Given the description of an element on the screen output the (x, y) to click on. 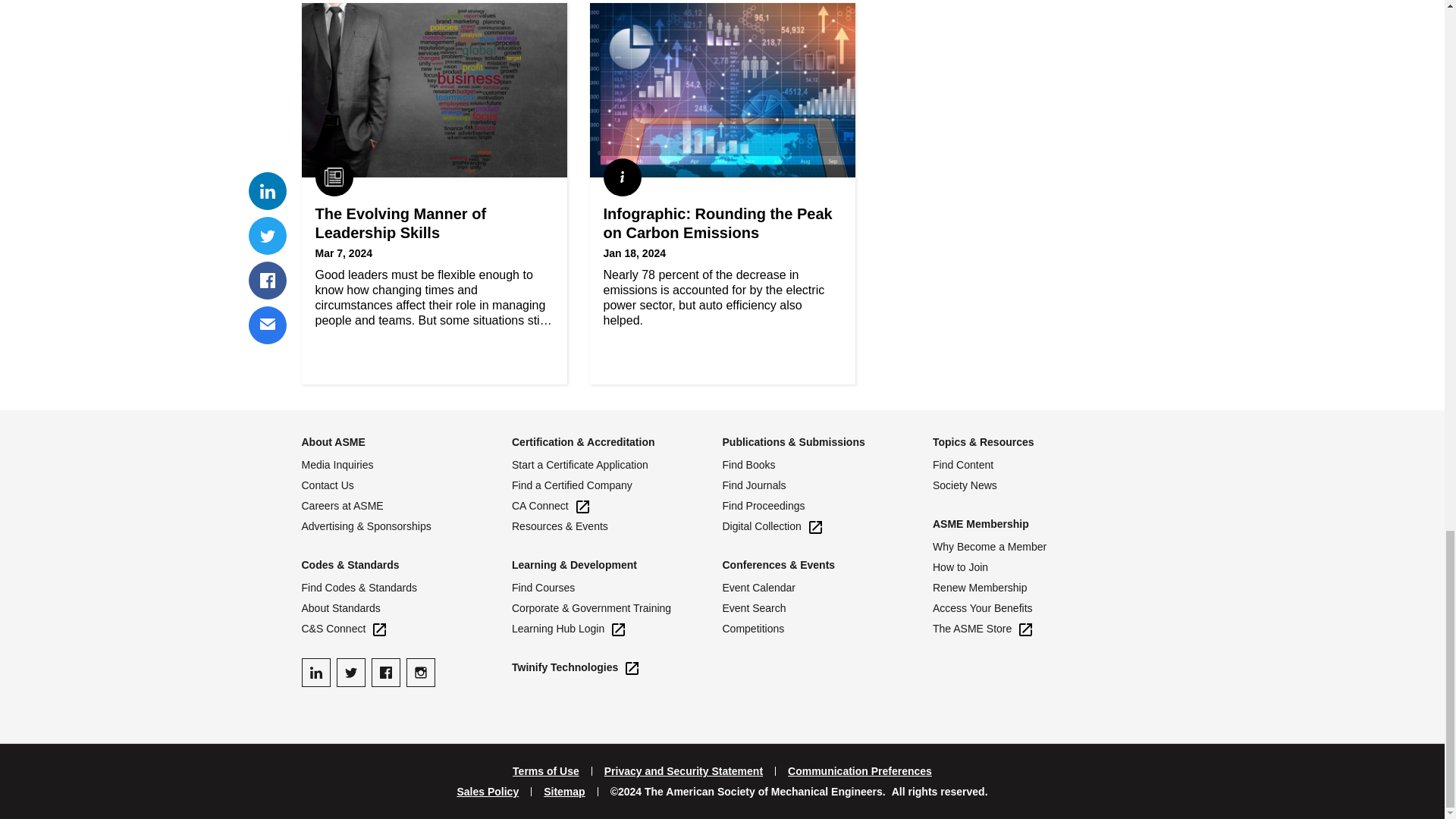
ASME on LinkedIn (315, 672)
ASME on Twitter (350, 672)
ASME on Instagram (420, 672)
ASME on Facebook (385, 672)
About ASME (333, 441)
